Given the description of an element on the screen output the (x, y) to click on. 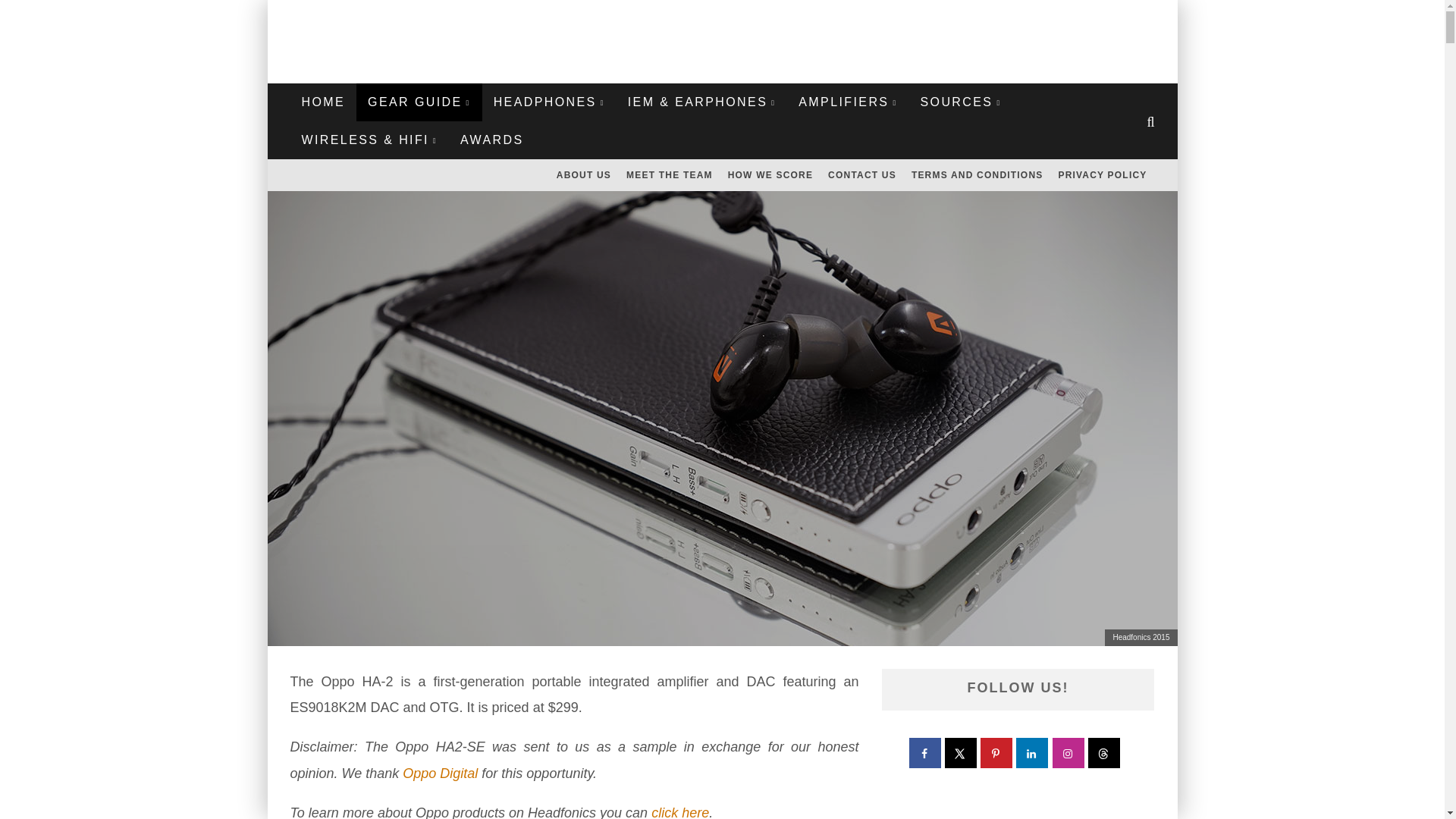
Follow on Facebook (925, 752)
Follow on Instagram (1069, 752)
GEAR GUIDE (418, 102)
Follow on Pinterest (996, 752)
HEADPHONES (548, 102)
Follow on X (961, 752)
Follow on LinkedIn (1032, 752)
HOME (322, 102)
Follow on Threads (1104, 752)
AMPLIFIERS (847, 102)
